Given the description of an element on the screen output the (x, y) to click on. 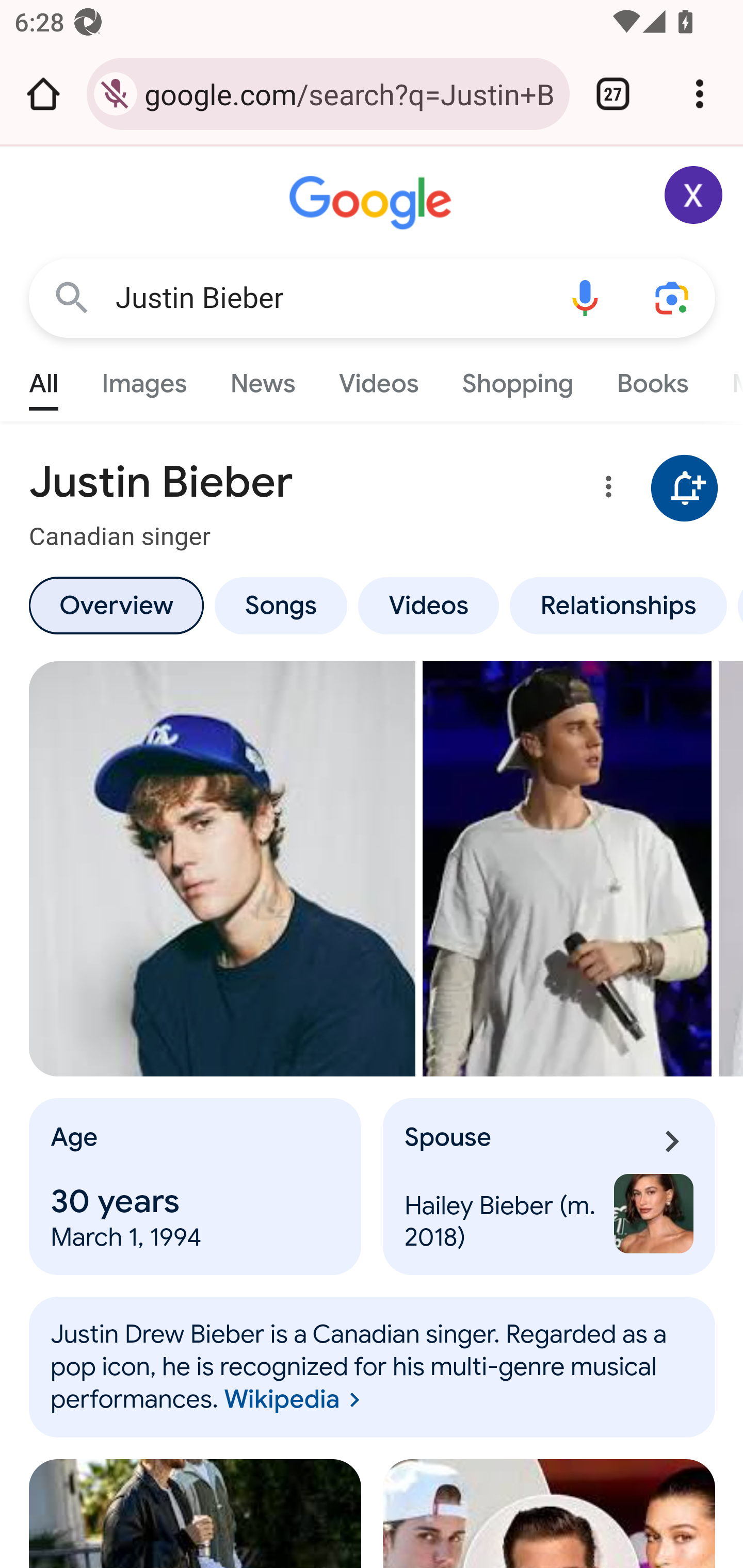
Open the home page (43, 93)
Connection is secure (115, 93)
Switch or close tabs (612, 93)
Customize and control Google Chrome (699, 93)
Google (372, 203)
Google Account: Xiaoran (zxrappiumtest@gmail.com) (694, 195)
Google Search (71, 296)
Search using your camera or photos (672, 296)
Justin Bieber (328, 297)
Images (144, 378)
News (262, 378)
Videos (378, 378)
Shopping (516, 378)
Books (652, 378)
Get notifications about Justin Bieber (684, 489)
More options (605, 489)
Overview (116, 605)
Songs (280, 605)
Videos (428, 605)
Relationships (618, 605)
Justin Bieber - Wikipedia (567, 868)
Justin_Bieber (372, 1367)
